Given the description of an element on the screen output the (x, y) to click on. 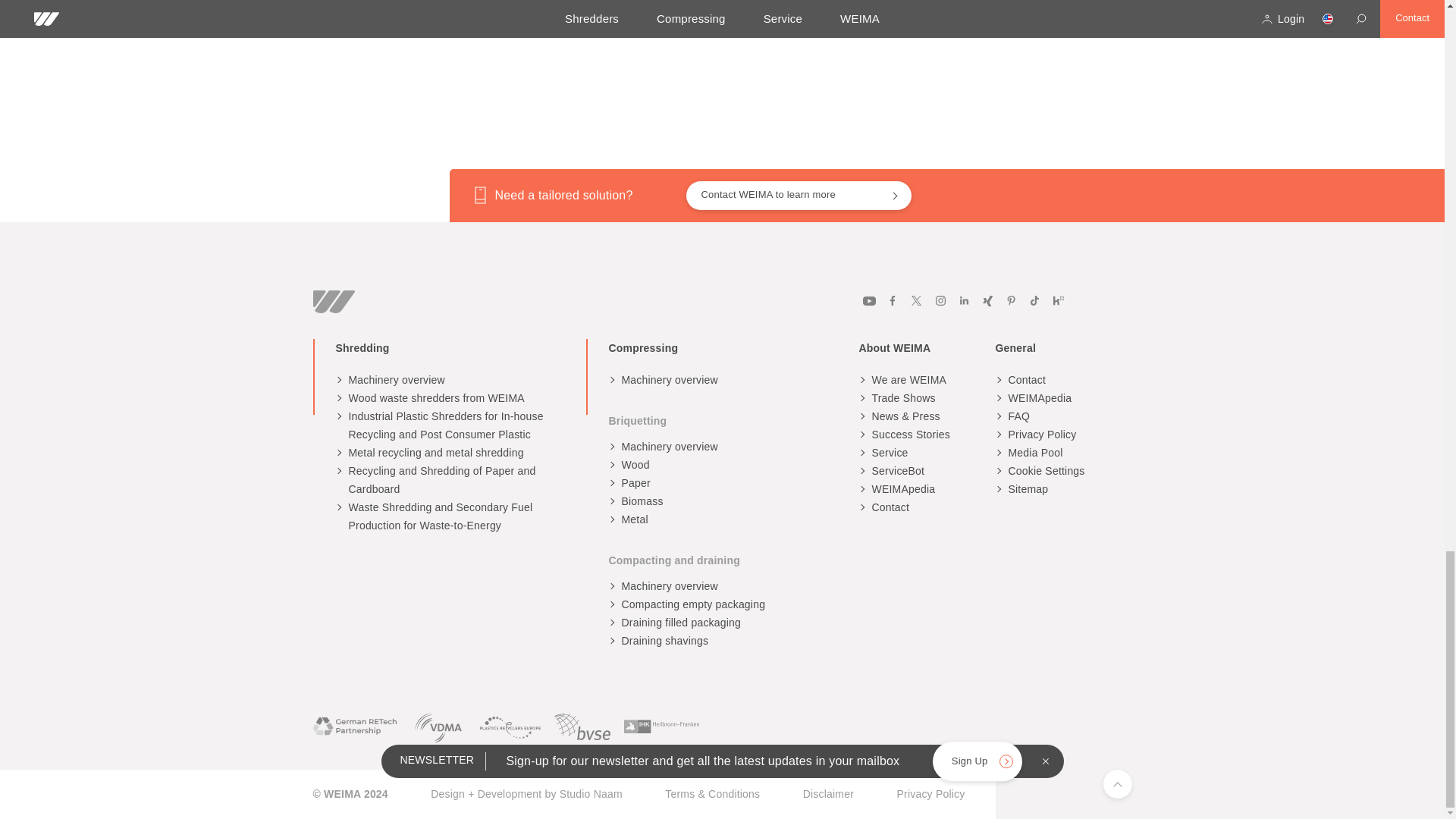
Heilbronn-Franken (660, 726)
Plastics Recyclers Europe (509, 726)
VDMA (437, 726)
German RETech Partnership (354, 726)
bvse (581, 726)
